Given the description of an element on the screen output the (x, y) to click on. 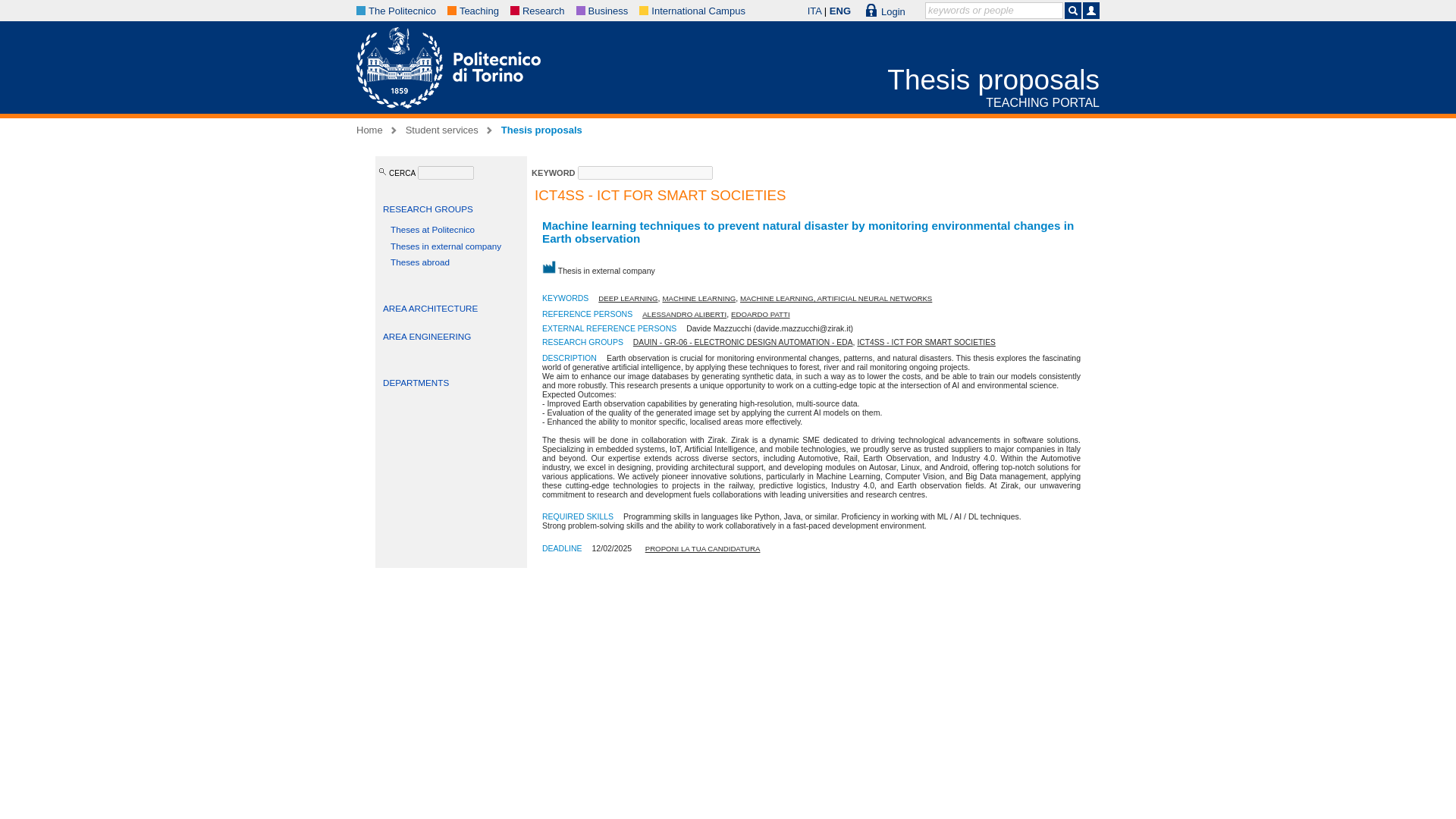
Theses in external company (445, 245)
AREA ENGINEERING (426, 336)
The Politecnico (401, 10)
Theses abroad (419, 261)
Theses at Politecnico (432, 229)
ENG (839, 10)
ALESSANDRO ALIBERTI (684, 314)
MACHINE LEARNING, ARTIFICIAL NEURAL NETWORKS (835, 298)
Search in Address Book (1091, 10)
International Campus (697, 10)
